Given the description of an element on the screen output the (x, y) to click on. 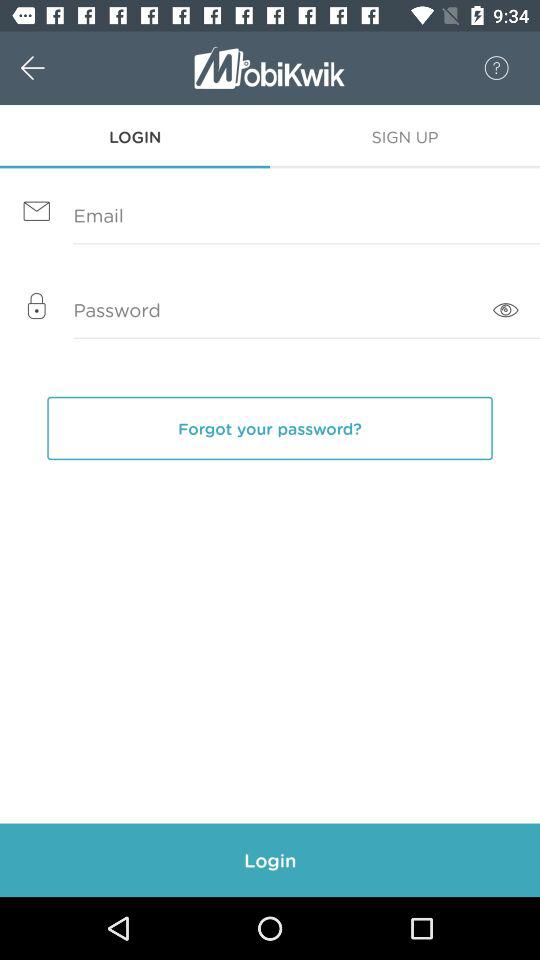
scroll until w (54, 68)
